Given the description of an element on the screen output the (x, y) to click on. 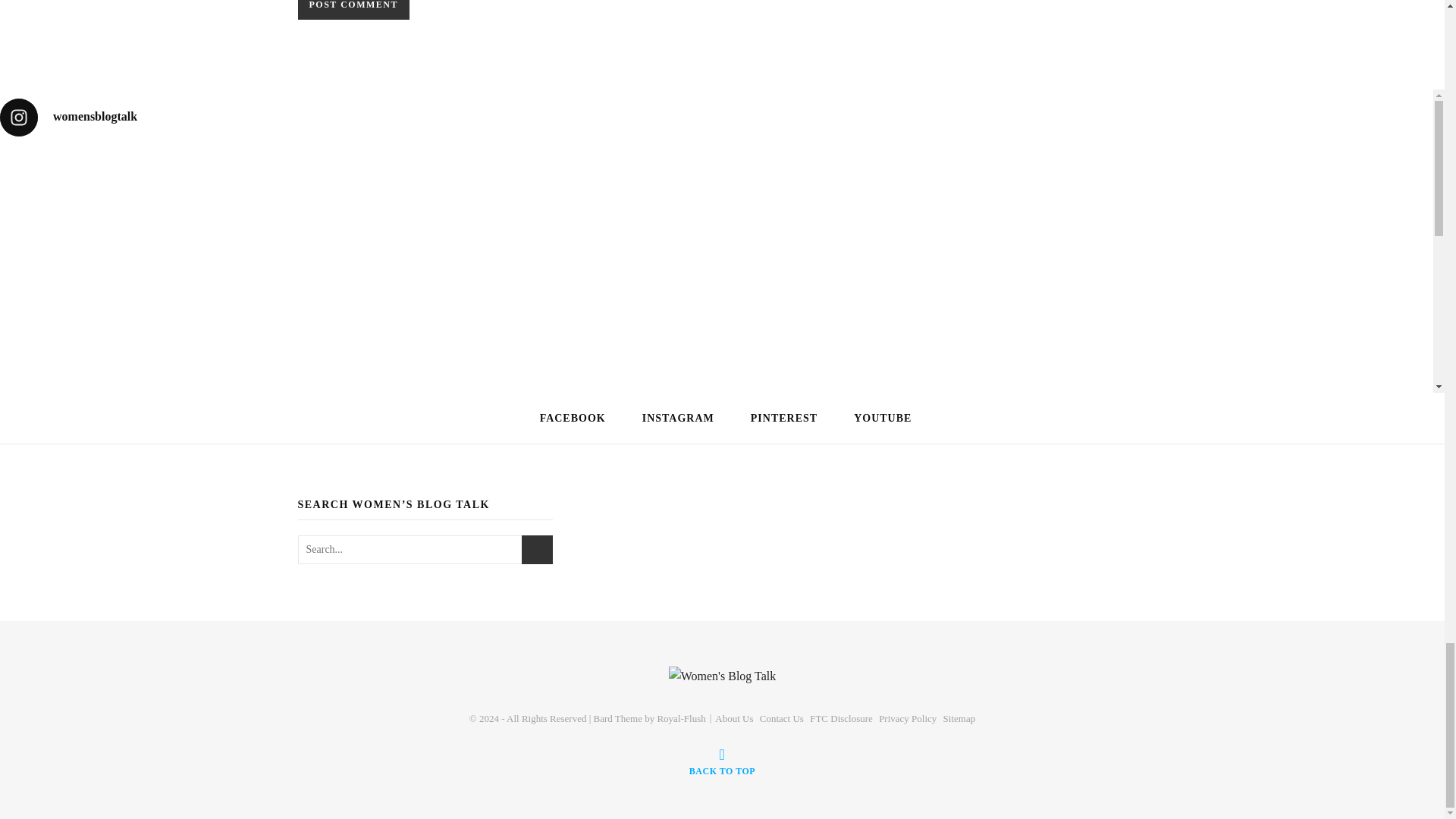
BACK TO TOP (722, 761)
Post Comment (353, 9)
